Given the description of an element on the screen output the (x, y) to click on. 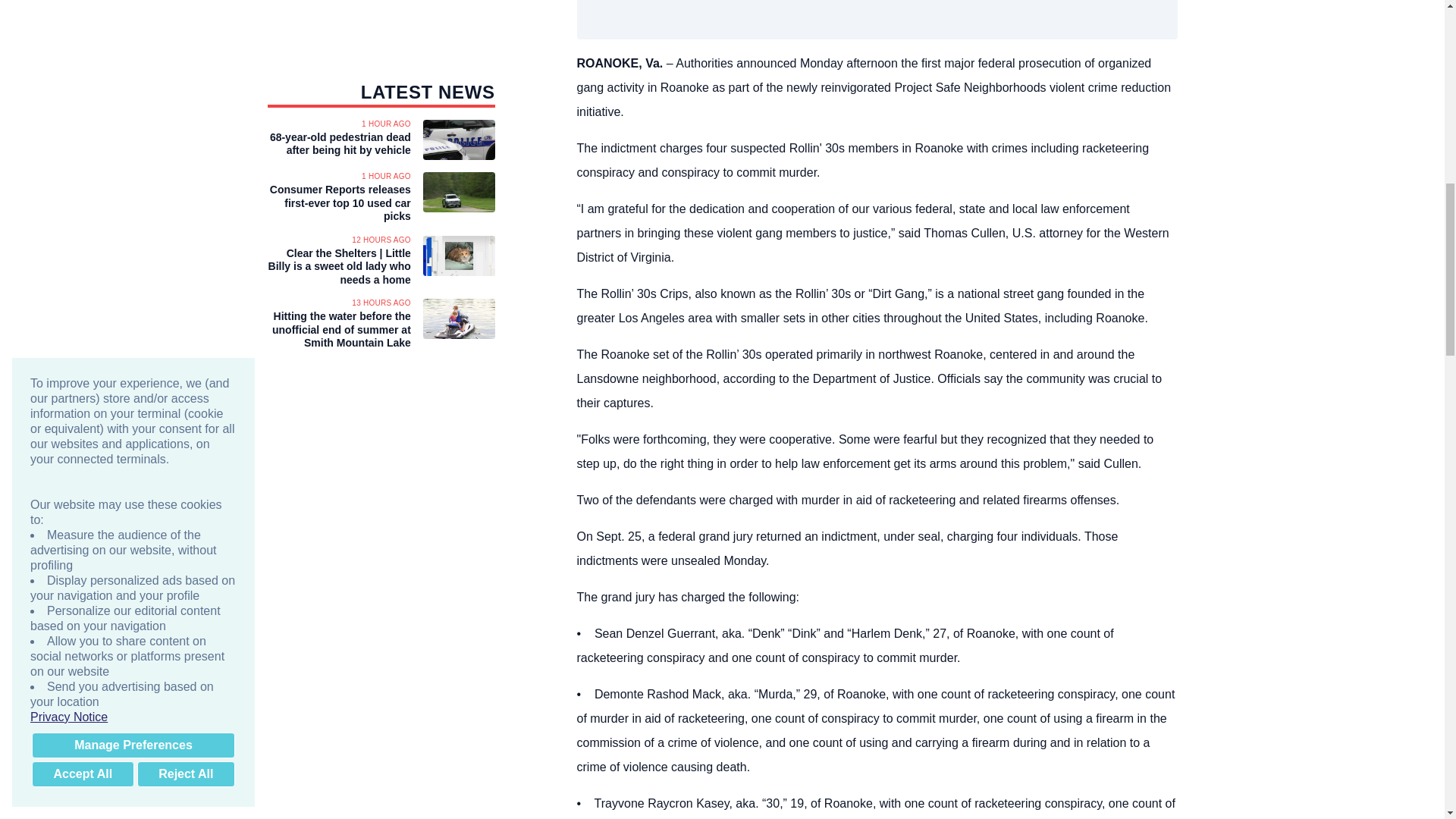
Consumer Reports releases first-ever top 10 used car picks (338, 203)
68-year-old pedestrian dead after being hit by vehicle (338, 144)
